Given the description of an element on the screen output the (x, y) to click on. 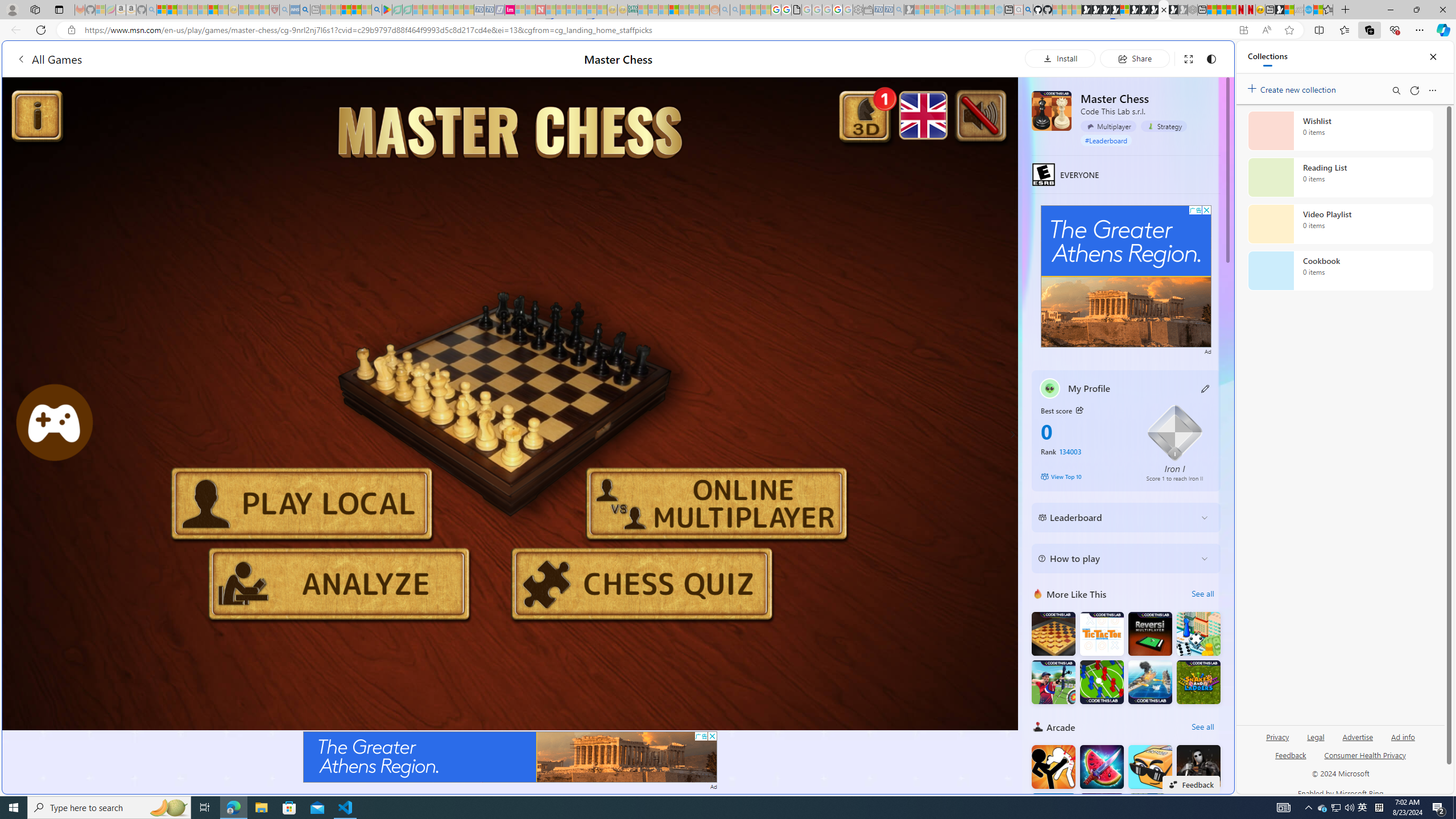
Play Cave FRVR in your browser | Games from Microsoft Start (922, 242)
Archery King (1053, 681)
Master Checkers Multiplayer (1053, 633)
Hunter Hitman (1198, 766)
Leaderboard (1116, 517)
Home | Sky Blue Bikes - Sky Blue Bikes (1118, 242)
